Given the description of an element on the screen output the (x, y) to click on. 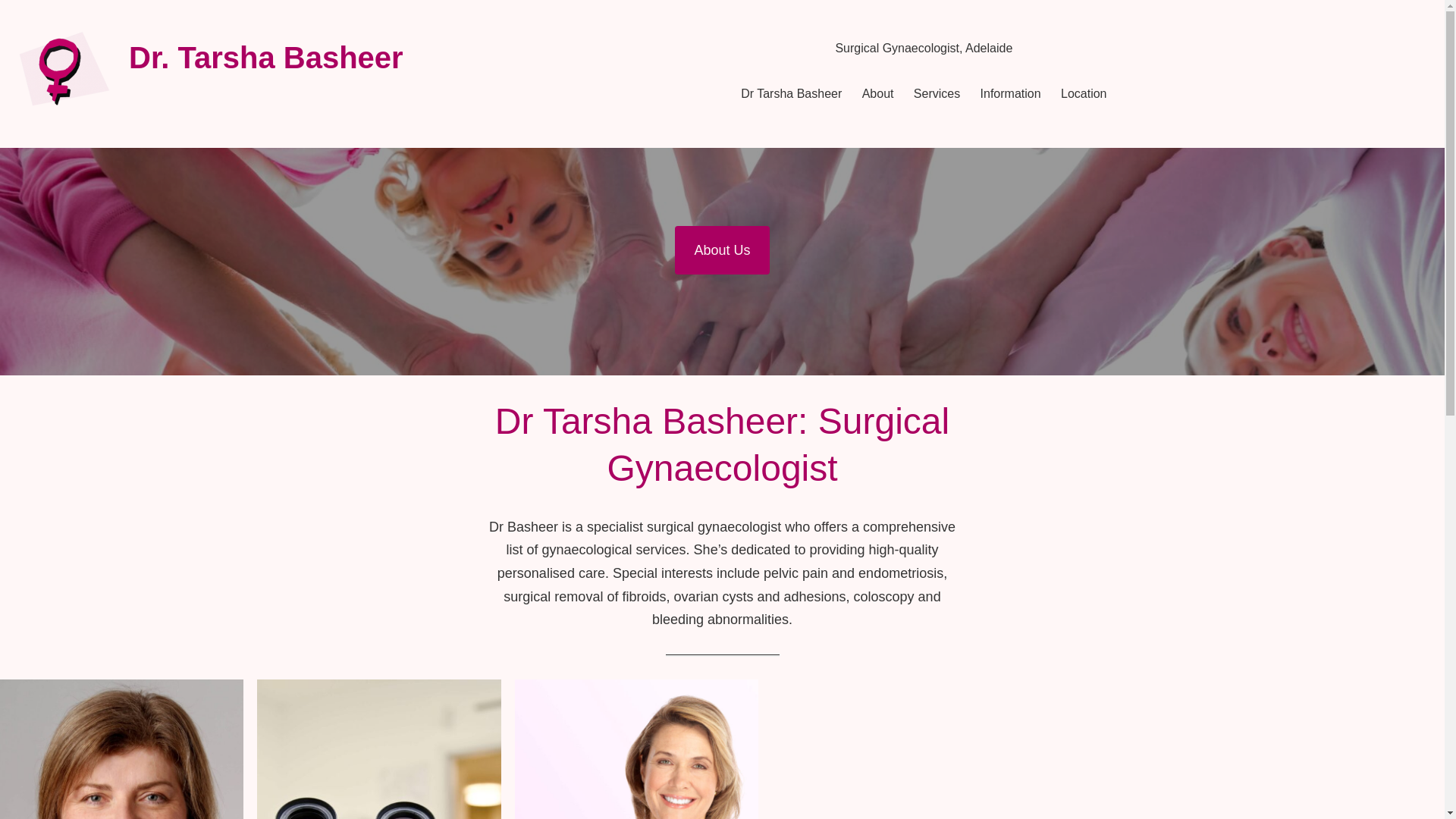
Information Element type: text (1010, 93)
Dr. Tarsha Basheer Element type: text (265, 57)
Location Element type: text (1083, 93)
About Us Element type: text (721, 249)
About Element type: text (878, 93)
Dr Tarsha Basheer Element type: text (790, 93)
Services Element type: text (936, 93)
